Given the description of an element on the screen output the (x, y) to click on. 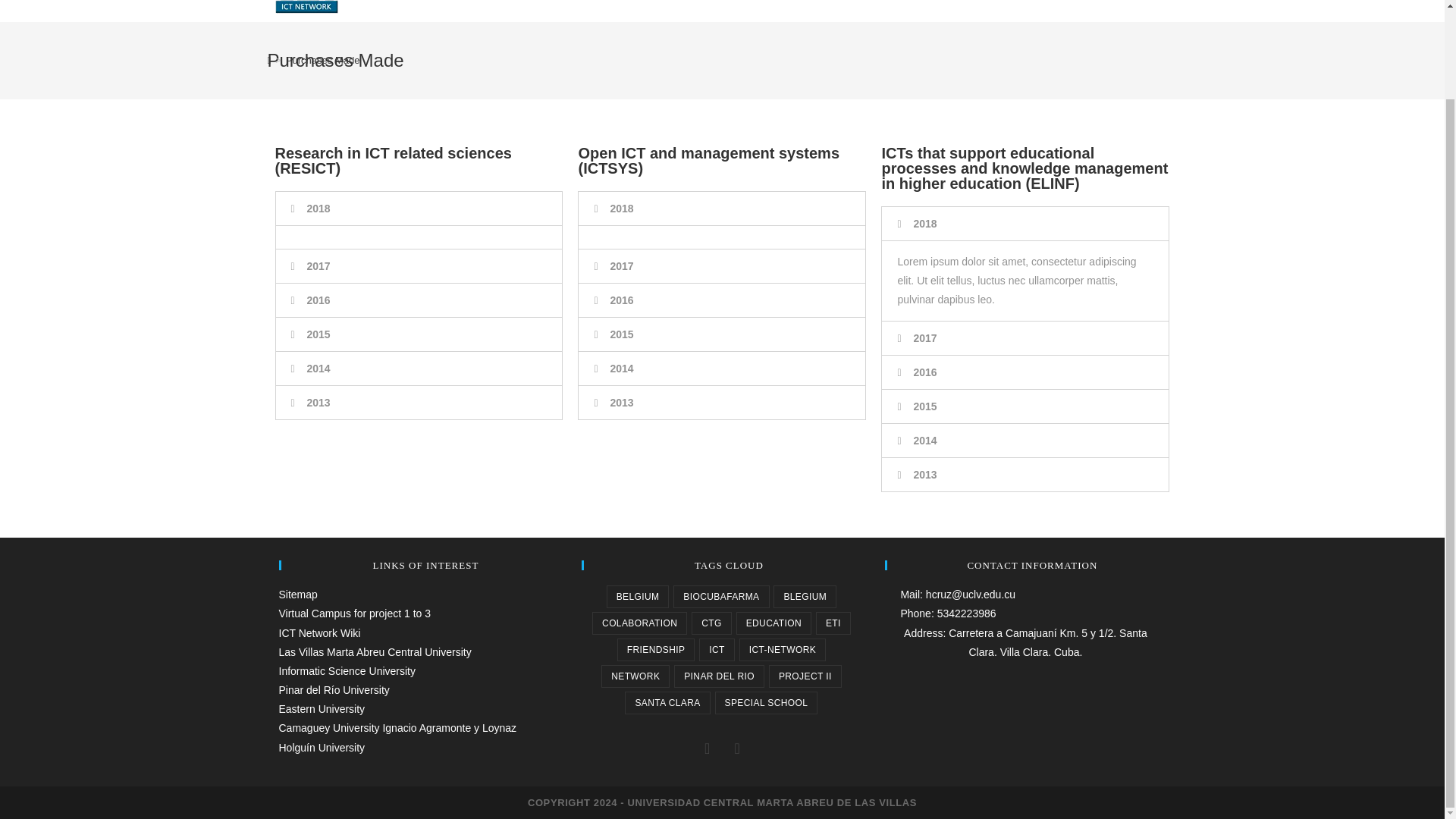
HOME (412, 5)
MOBILITY (749, 5)
2017 (621, 265)
SERVICES (836, 5)
2016 (317, 300)
2016 (621, 300)
TEACHINGS (565, 5)
2018 (621, 208)
2015 (317, 334)
2013 (317, 402)
